Given the description of an element on the screen output the (x, y) to click on. 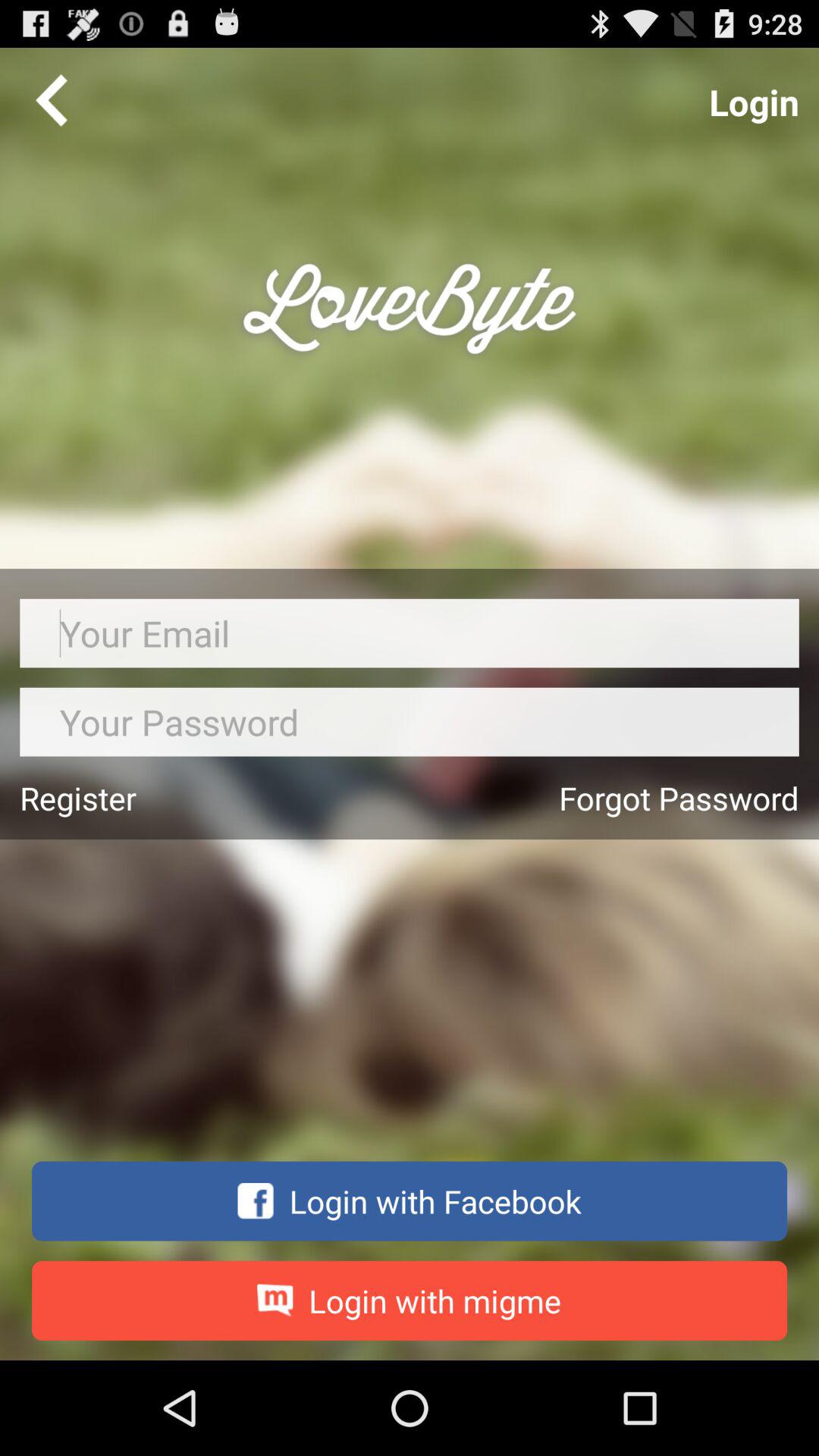
back button (51, 99)
